Given the description of an element on the screen output the (x, y) to click on. 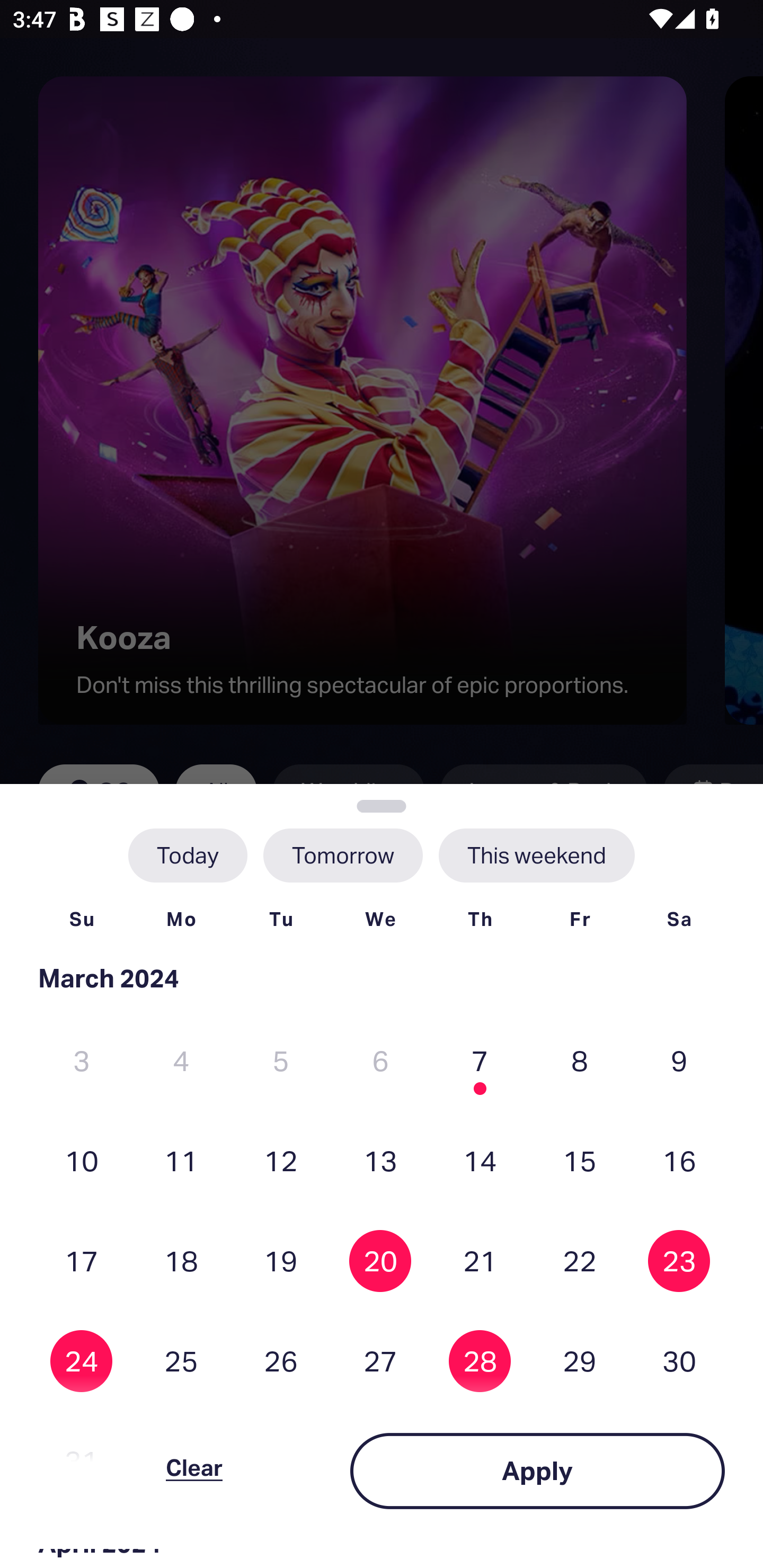
Today (187, 854)
Tomorrow (342, 854)
This weekend (536, 854)
3 (81, 1060)
4 (181, 1060)
5 (280, 1060)
6 (380, 1060)
7 (479, 1060)
8 (579, 1060)
9 (678, 1060)
10 (81, 1160)
11 (181, 1160)
12 (280, 1160)
13 (380, 1160)
14 (479, 1160)
15 (579, 1160)
16 (678, 1160)
17 (81, 1260)
18 (181, 1260)
19 (280, 1260)
20 (380, 1260)
21 (479, 1260)
22 (579, 1260)
23 (678, 1260)
24 (81, 1360)
25 (181, 1360)
26 (280, 1360)
27 (380, 1360)
28 (479, 1360)
29 (579, 1360)
30 (678, 1360)
Clear (194, 1470)
Apply (537, 1470)
